Given the description of an element on the screen output the (x, y) to click on. 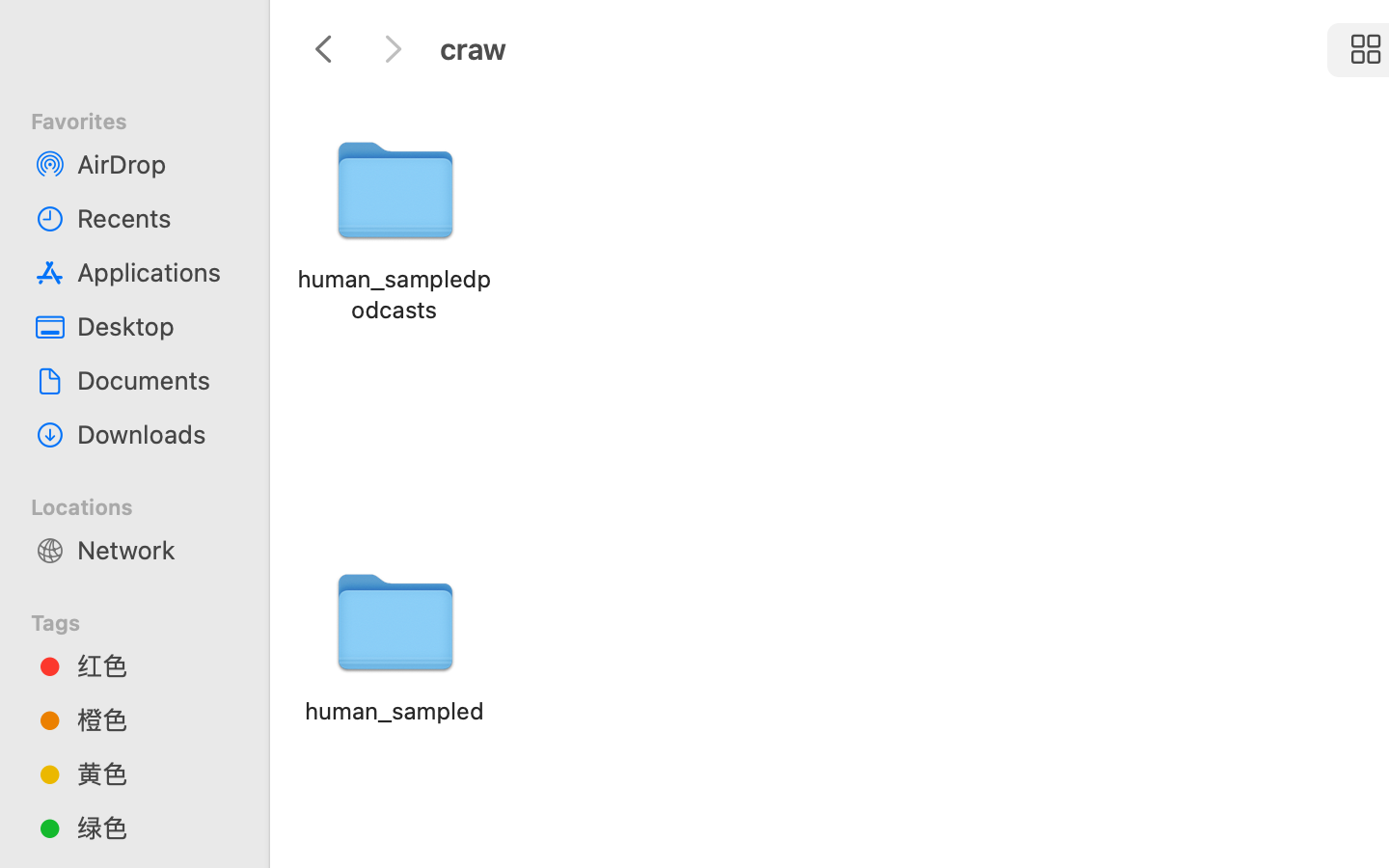
Desktop Element type: AXStaticText (155, 325)
红色 Element type: AXStaticText (155, 665)
橙色 Element type: AXStaticText (155, 719)
Downloads Element type: AXStaticText (155, 433)
Documents Element type: AXStaticText (155, 379)
